Given the description of an element on the screen output the (x, y) to click on. 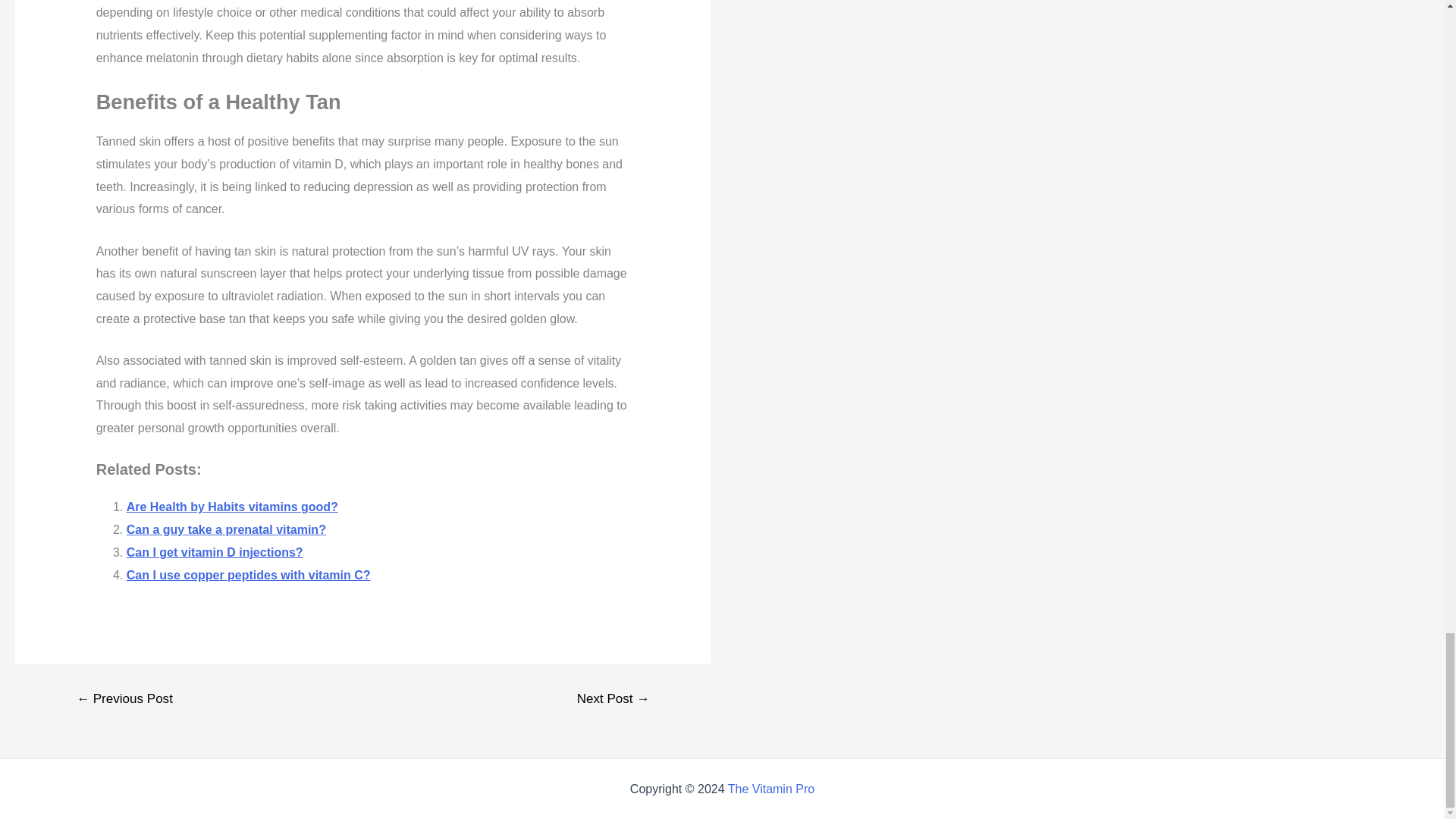
Can I get vitamin D injections? (214, 552)
Can a guy take a prenatal vitamin? (226, 529)
Can I use copper peptides with vitamin C? (248, 574)
Are Health by Habits vitamins good? (231, 506)
Can I get vitamin D injections? (214, 552)
Can a guy take a prenatal vitamin? (226, 529)
Can I use copper peptides with vitamin C? (248, 574)
Are Health by Habits vitamins good? (231, 506)
